Given the description of an element on the screen output the (x, y) to click on. 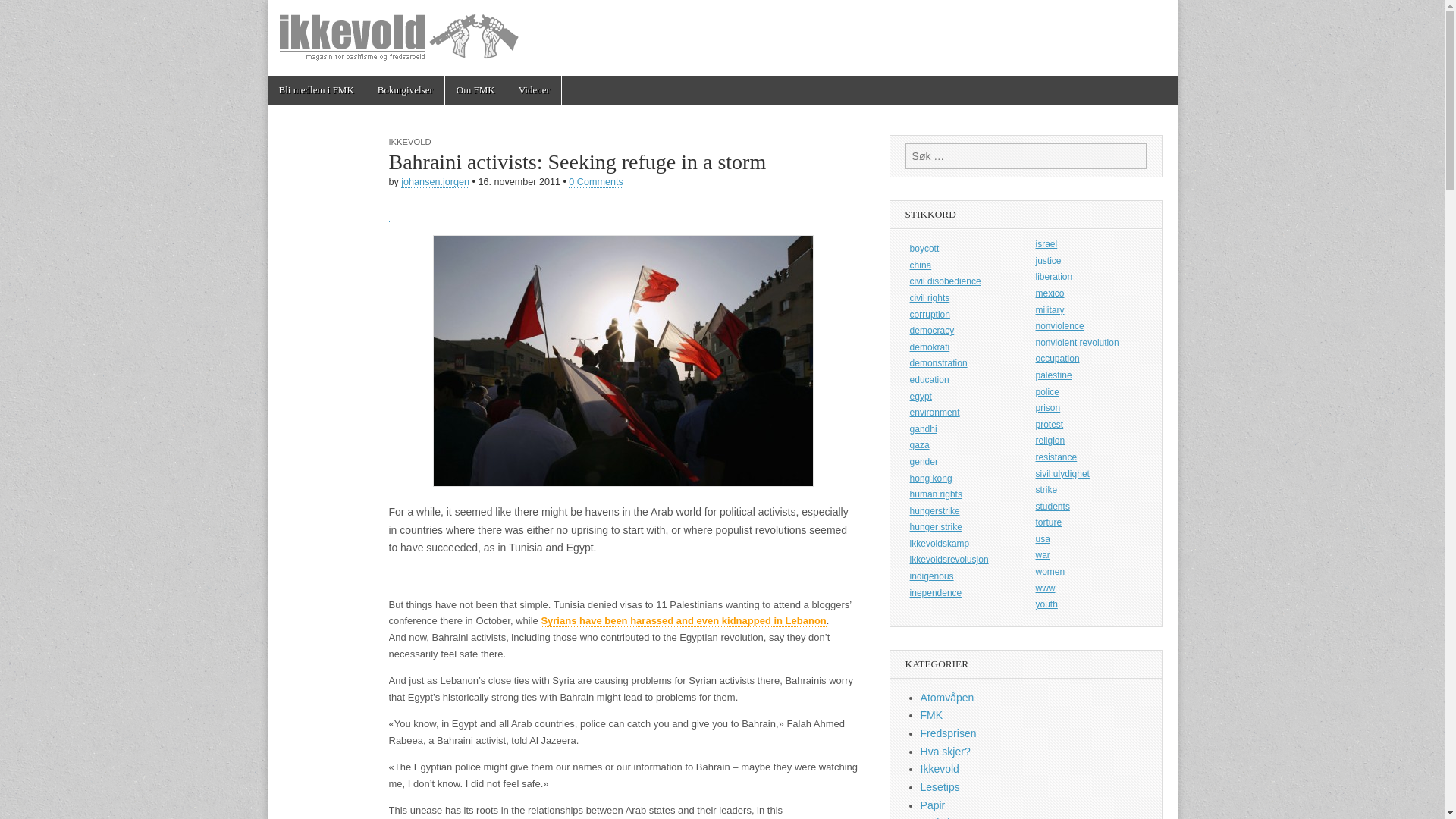
demokrati (963, 347)
demonstration (963, 363)
china (963, 265)
ikkevold.no (368, 52)
corruption (963, 315)
johansen.jorgen (434, 182)
ikkevold.no (368, 52)
boycott (963, 249)
civil rights (963, 298)
Bokutgivelser (405, 90)
Om FMK (475, 90)
ikkevold.no (721, 37)
democracy (963, 331)
